Given the description of an element on the screen output the (x, y) to click on. 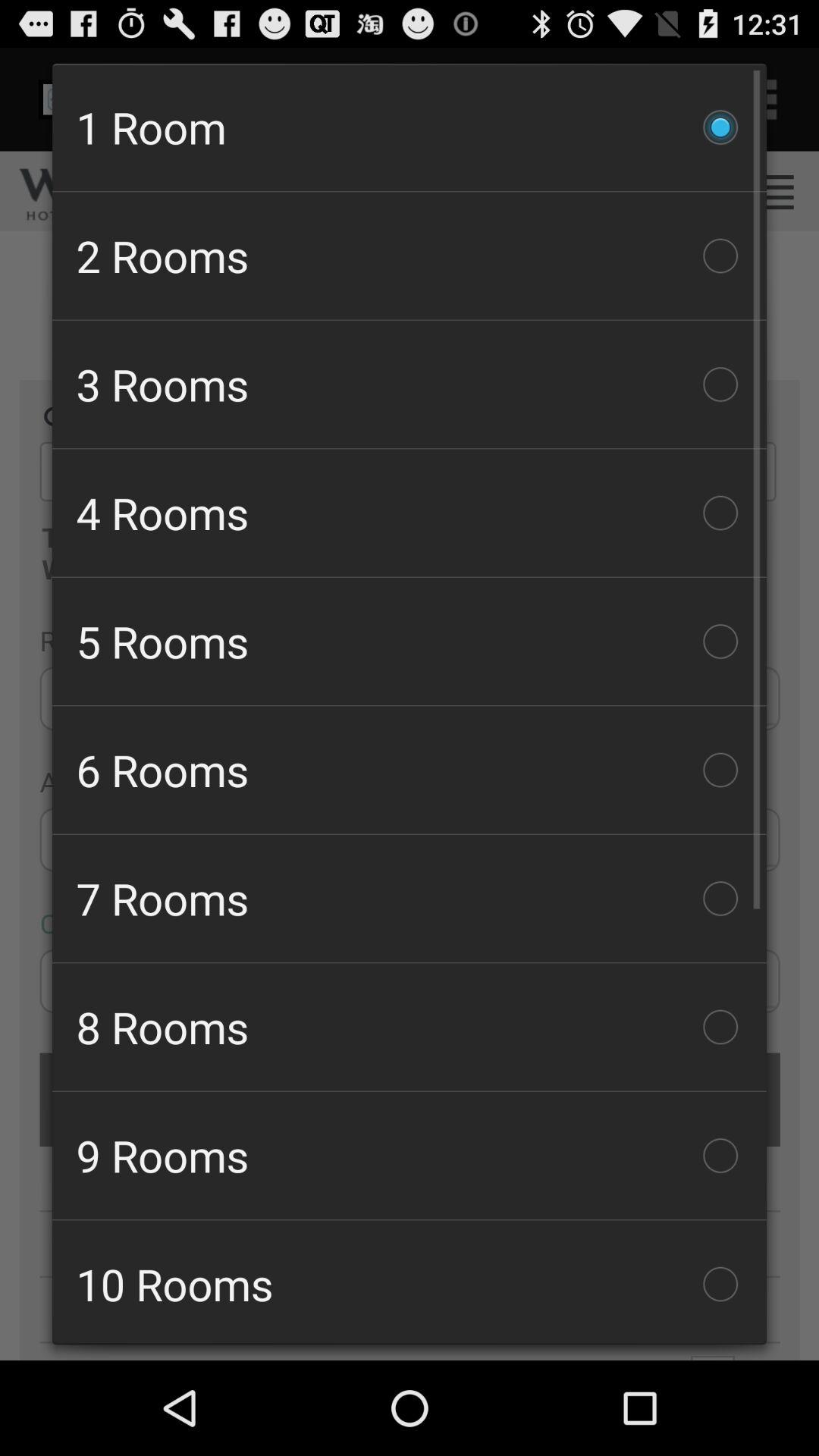
launch checkbox above 8 rooms (409, 898)
